Given the description of an element on the screen output the (x, y) to click on. 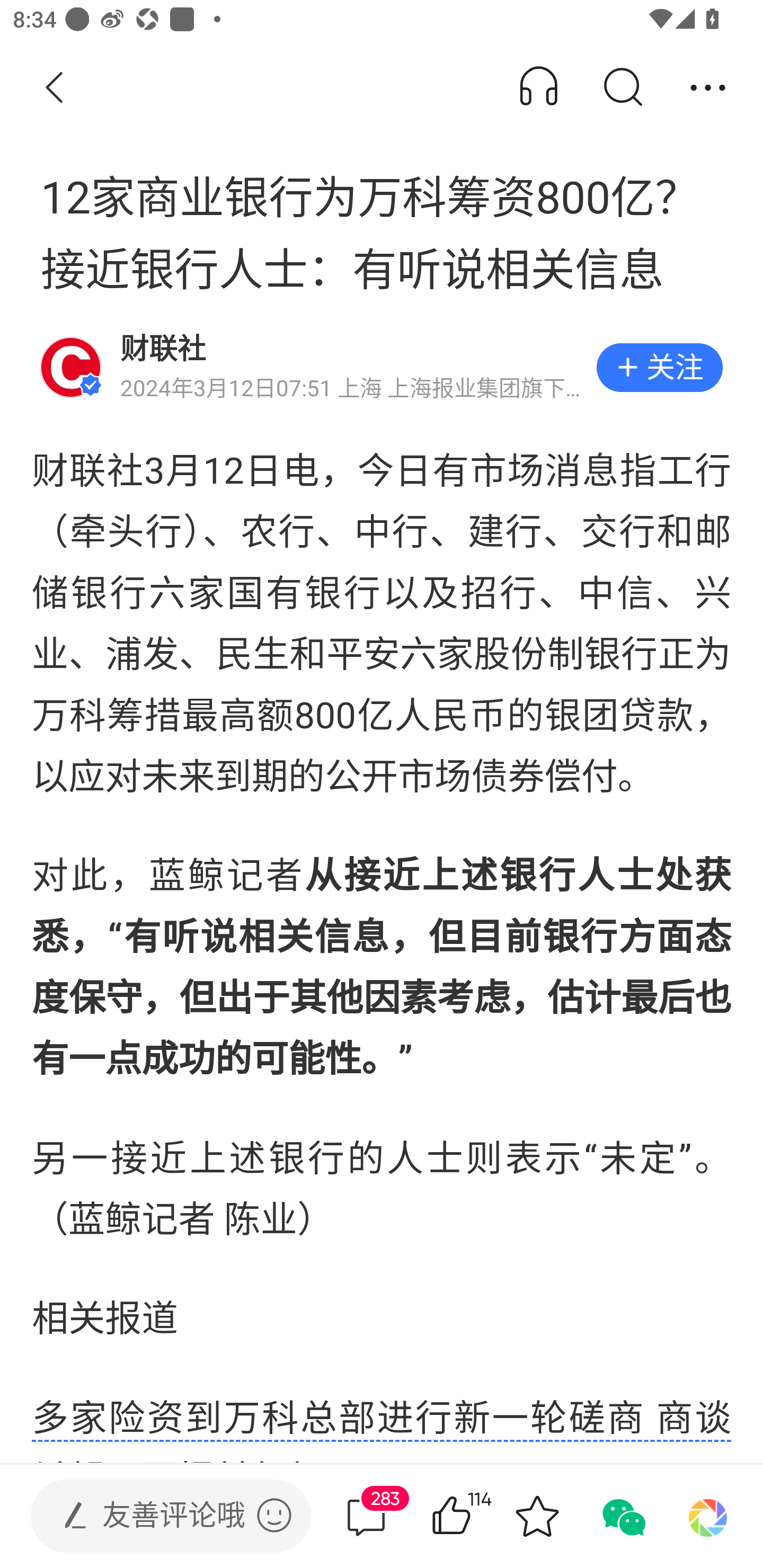
搜索  (622, 87)
分享  (707, 87)
 返回 (54, 87)
财联社 2024年3月12日07:51 上海 上海报业集团旗下《财联社》官方账号  关注 (381, 367)
 关注 (659, 367)
发表评论  友善评论哦 发表评论  (155, 1516)
283评论  283 评论 (365, 1516)
114赞 (476, 1516)
收藏  (536, 1516)
分享到微信  (622, 1516)
分享到朋友圈 (707, 1516)
 (274, 1515)
